Given the description of an element on the screen output the (x, y) to click on. 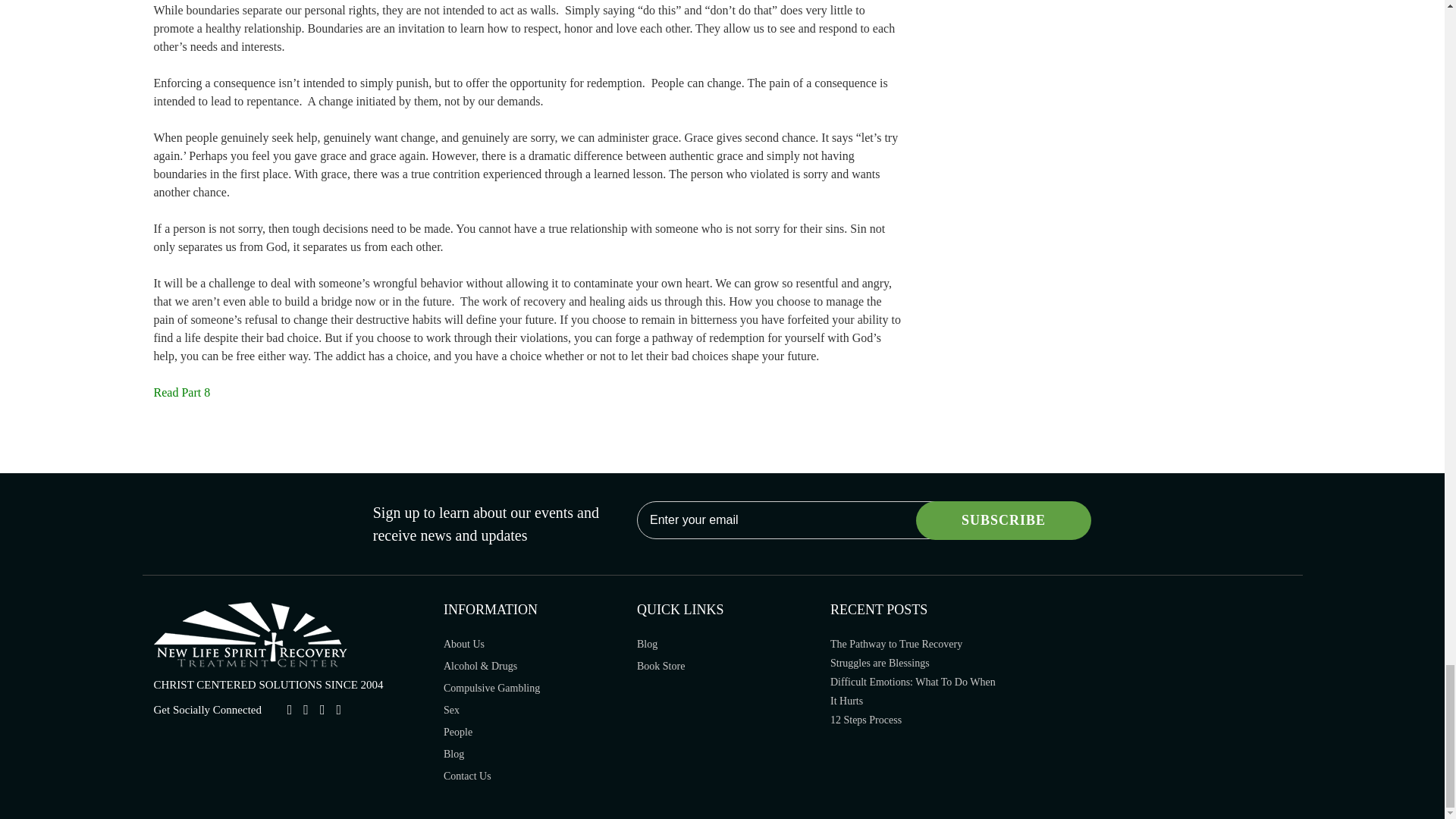
About Us (464, 644)
People (457, 731)
Sex (452, 709)
SUBSCRIBE (1002, 520)
Compulsive Gambling (492, 687)
Read Part 8 (180, 391)
